Given the description of an element on the screen output the (x, y) to click on. 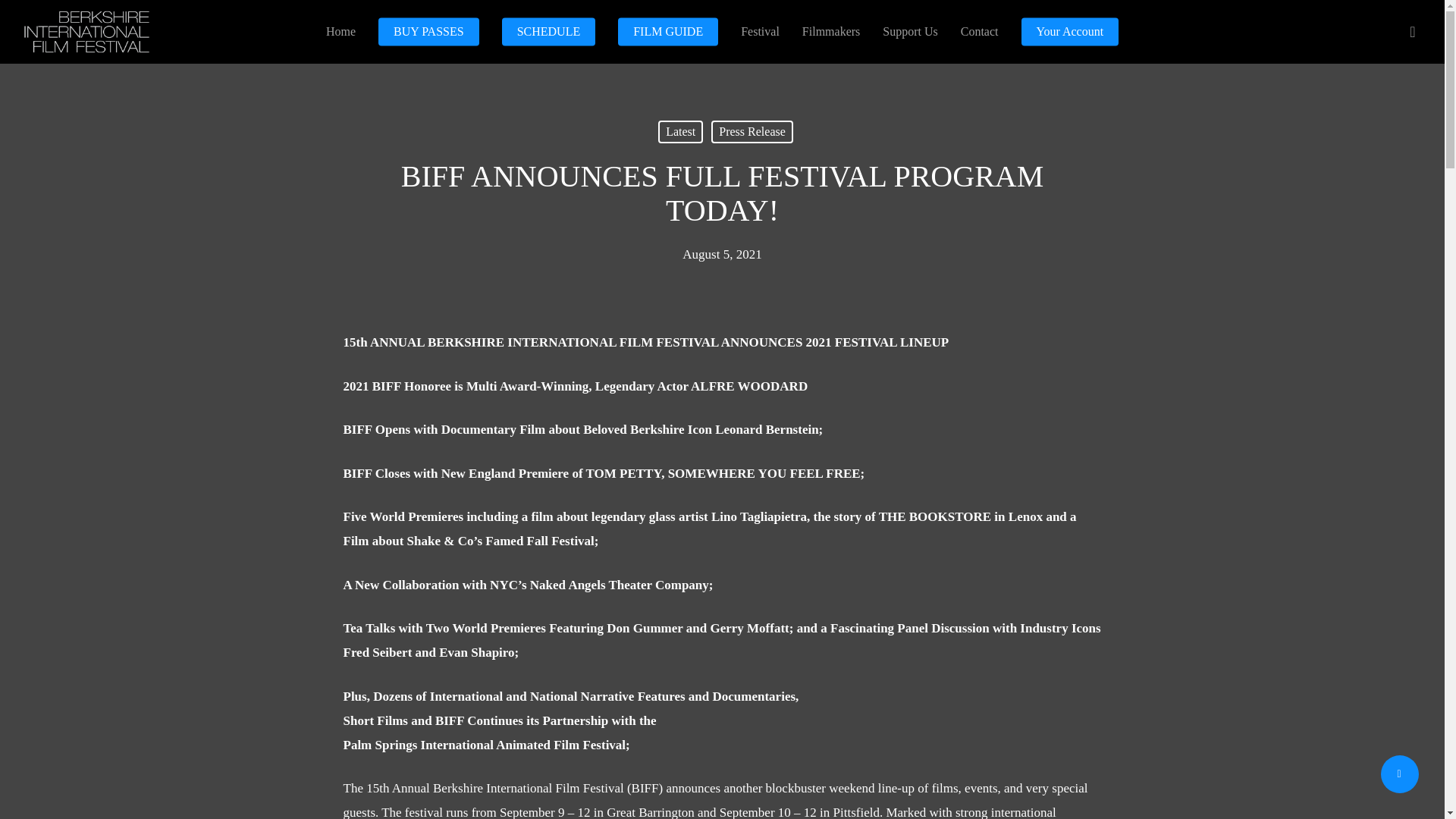
Contact (979, 31)
Filmmakers (831, 31)
Home (340, 31)
SCHEDULE (548, 31)
search (1412, 32)
Your Account (1070, 31)
Support Us (909, 31)
Latest (680, 131)
Press Release (752, 131)
Festival (759, 31)
